Given the description of an element on the screen output the (x, y) to click on. 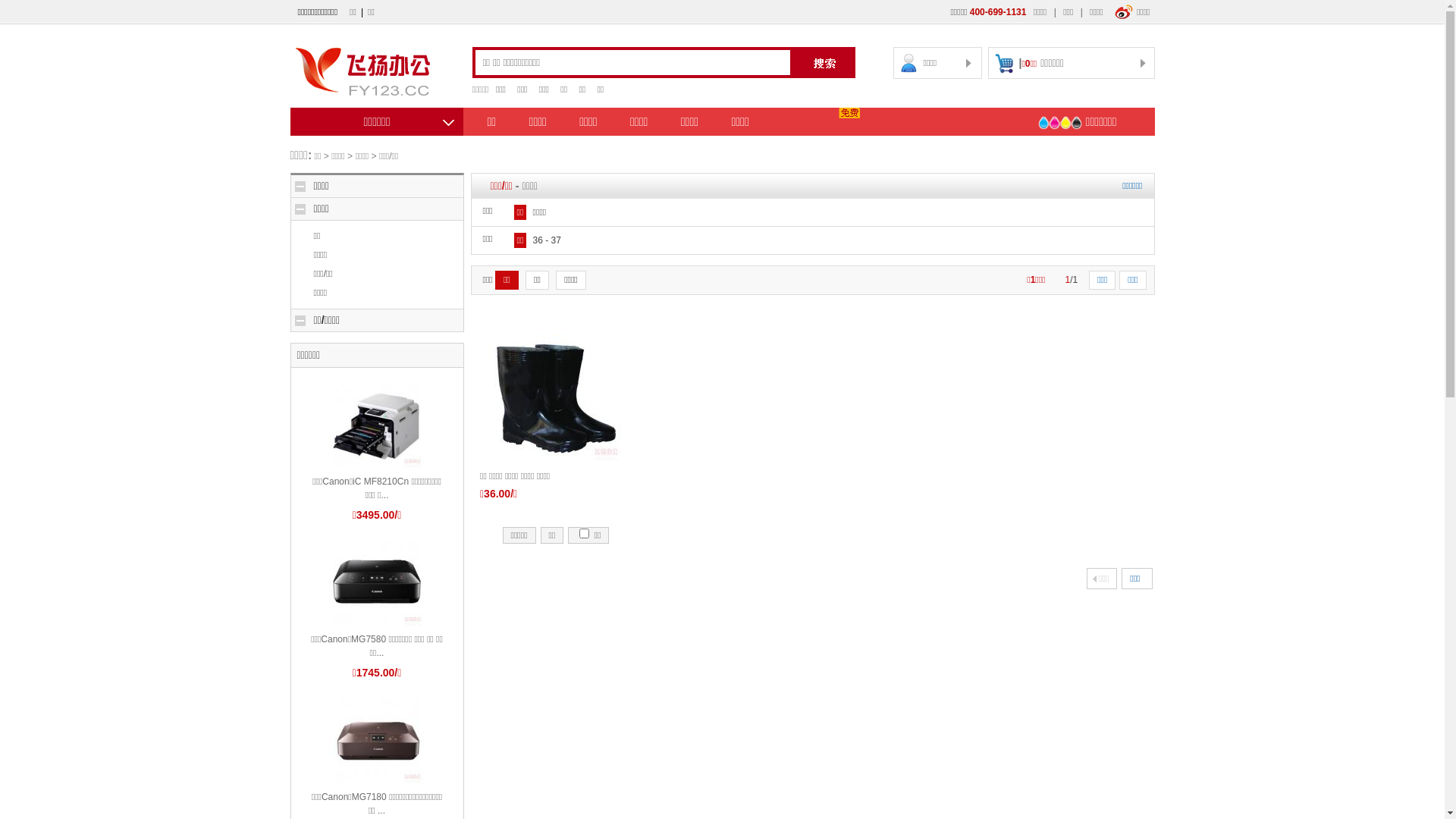
36 - 37 Element type: text (547, 239)
